Given the description of an element on the screen output the (x, y) to click on. 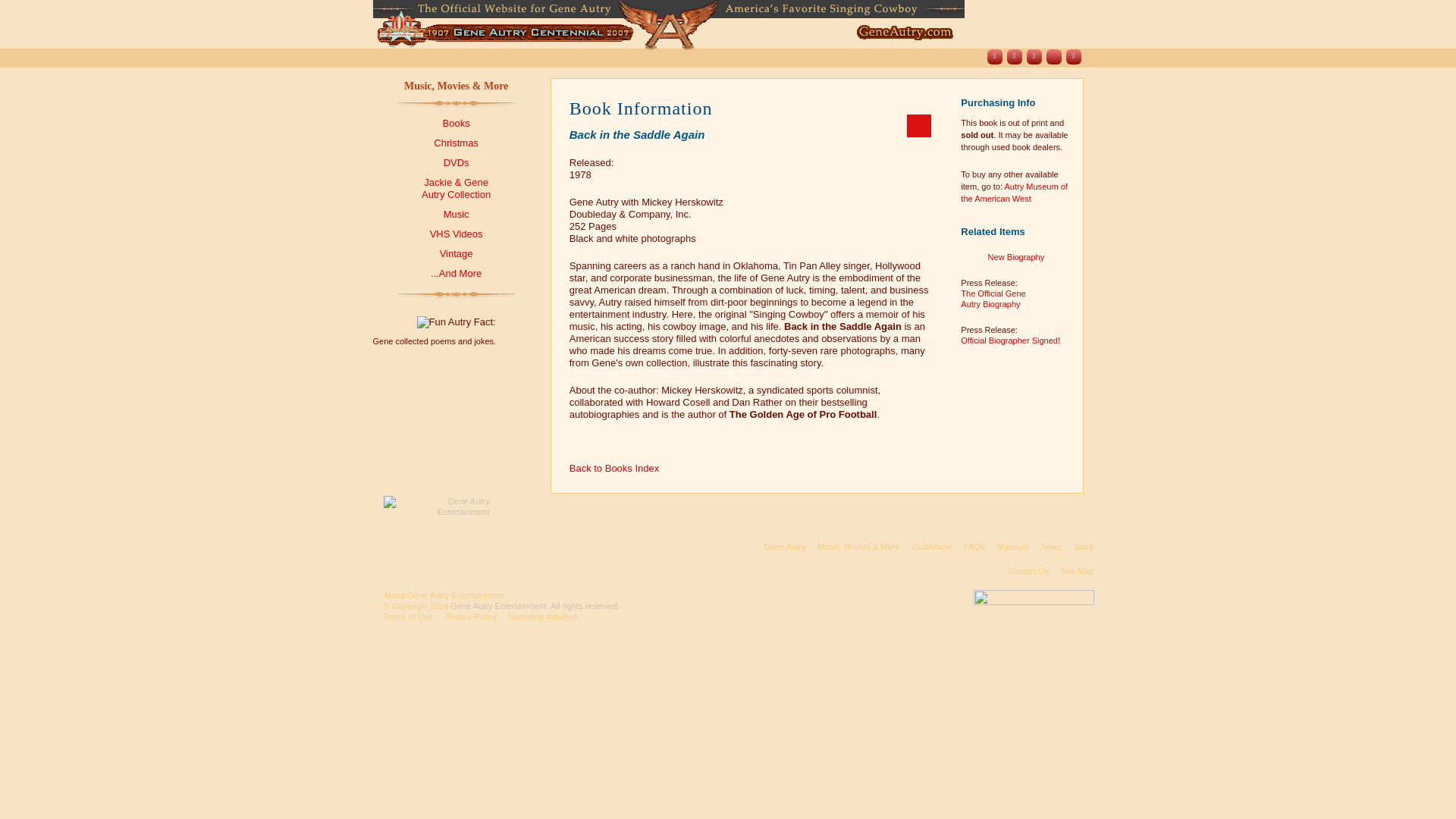
Vintage (456, 253)
News (1051, 546)
Autry Museum of the American West (1013, 192)
...And More (455, 273)
Museum (1011, 546)
Site Map (1077, 570)
Shout! TV (1053, 56)
New Biography (1016, 261)
Facebook (995, 56)
News (761, 57)
Clubhouse (621, 57)
FAQs (974, 546)
Museum (716, 57)
Instagram (1034, 56)
About Gene Autry Entertainment (443, 594)
